Given the description of an element on the screen output the (x, y) to click on. 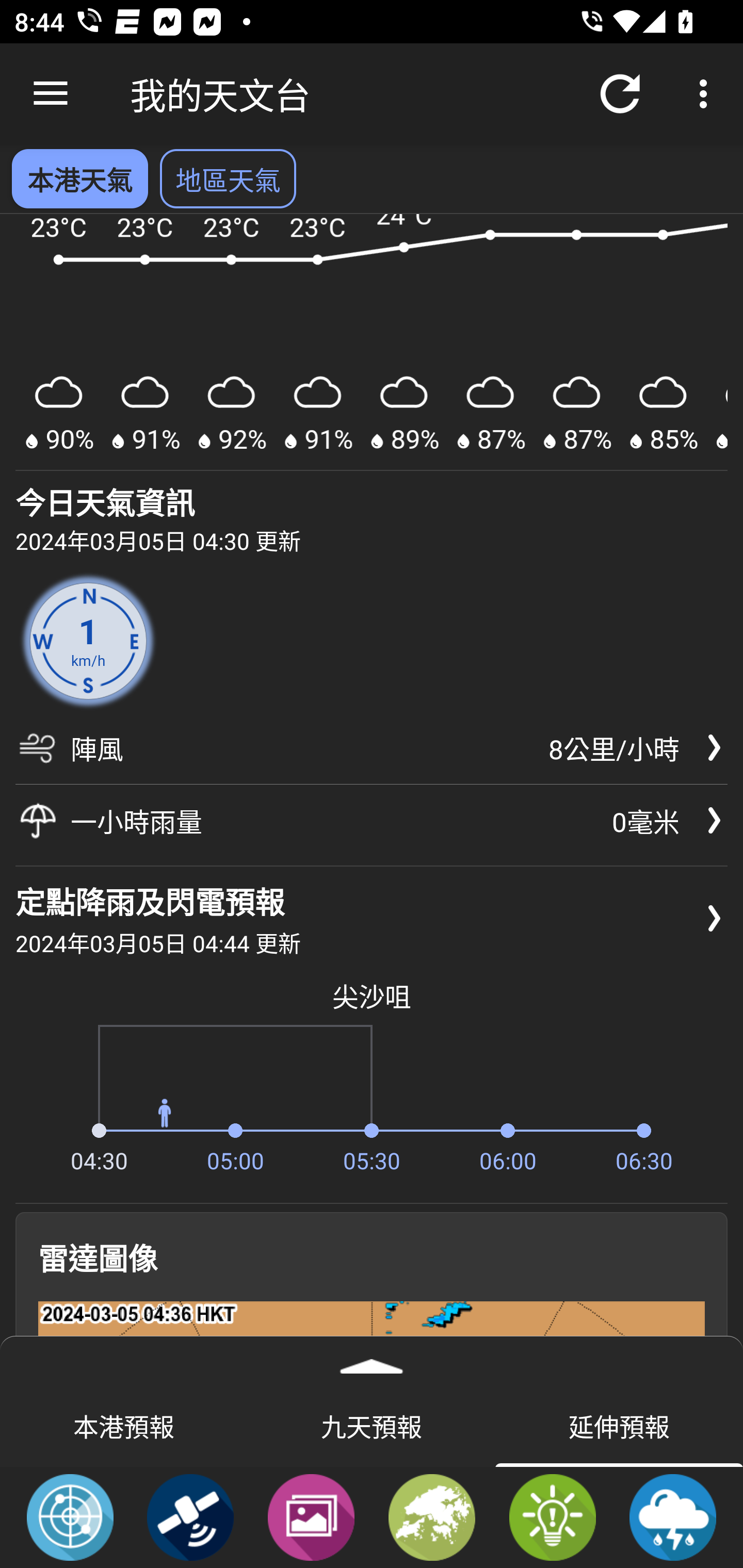
向上瀏覽 (50, 93)
重新整理 (619, 93)
更多選項 (706, 93)
本港天氣 已選擇 本港天氣 (79, 178)
地區天氣 選擇 地區天氣 (227, 178)
九天自動天氣預報 圖片
輕按進入內頁，即可了解詳細資料。 ARWF (371, 342)
風向不定
風速每小時1公里 1 km/h (88, 640)
陣風 8公里/小時 陣風 8公里/小時 (371, 754)
一小時雨量 0毫米 一小時雨量 0毫米 (371, 820)
展開 (371, 1358)
本港預報 (123, 1424)
九天預報 (371, 1424)
雷達圖像 (69, 1516)
衛星圖像 (190, 1516)
天氣照片 (310, 1516)
分區天氣 (431, 1516)
天氣提示 (551, 1516)
定點降雨及閃電預報 (672, 1516)
